Given the description of an element on the screen output the (x, y) to click on. 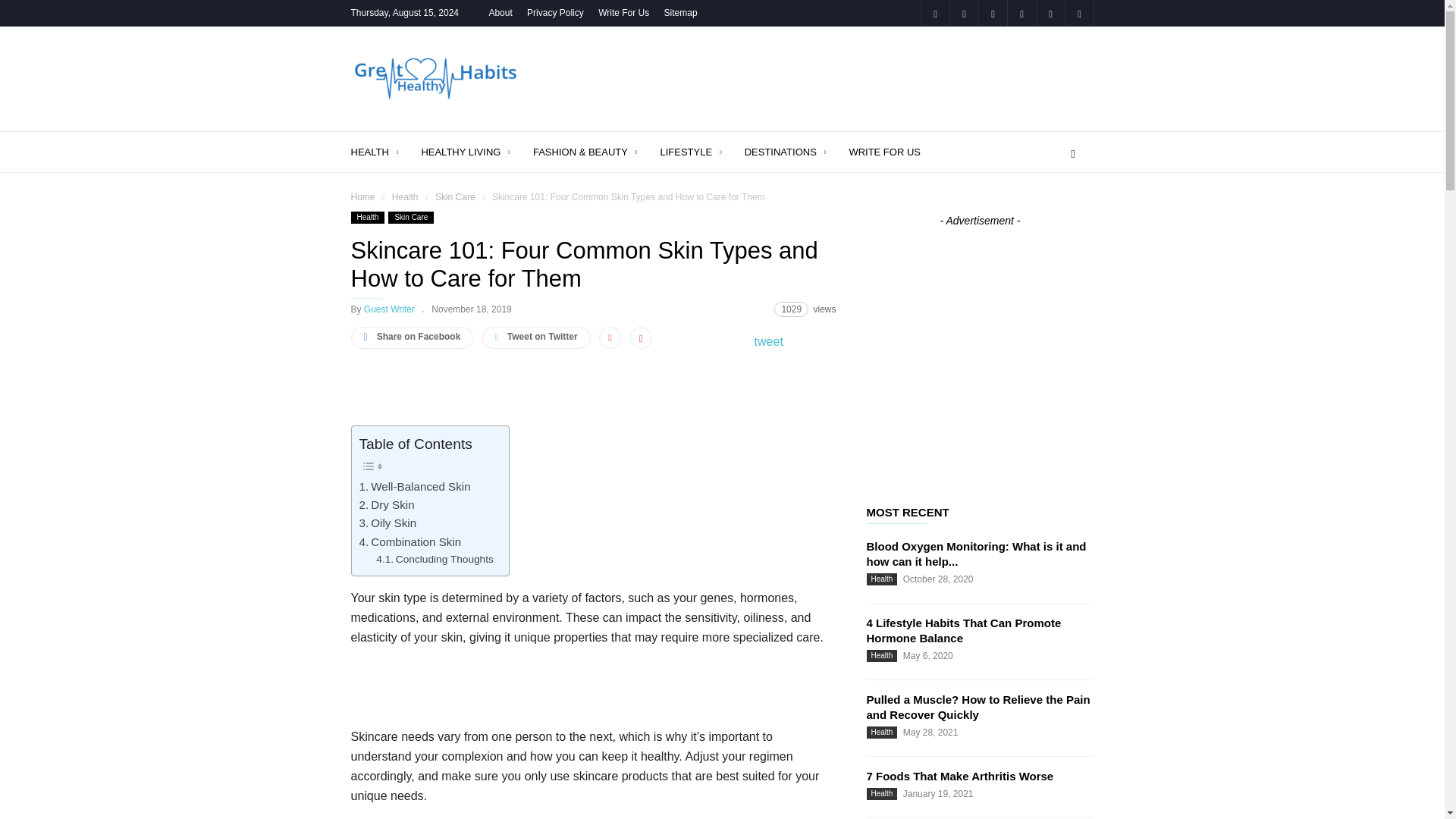
About (499, 12)
Facebook (934, 13)
StumbleUpon (1049, 13)
RSS (1021, 13)
Advertisement (817, 79)
Pinterest (992, 13)
Twitter (1078, 13)
Mail (963, 13)
Privacy Policy (555, 12)
